Given the description of an element on the screen output the (x, y) to click on. 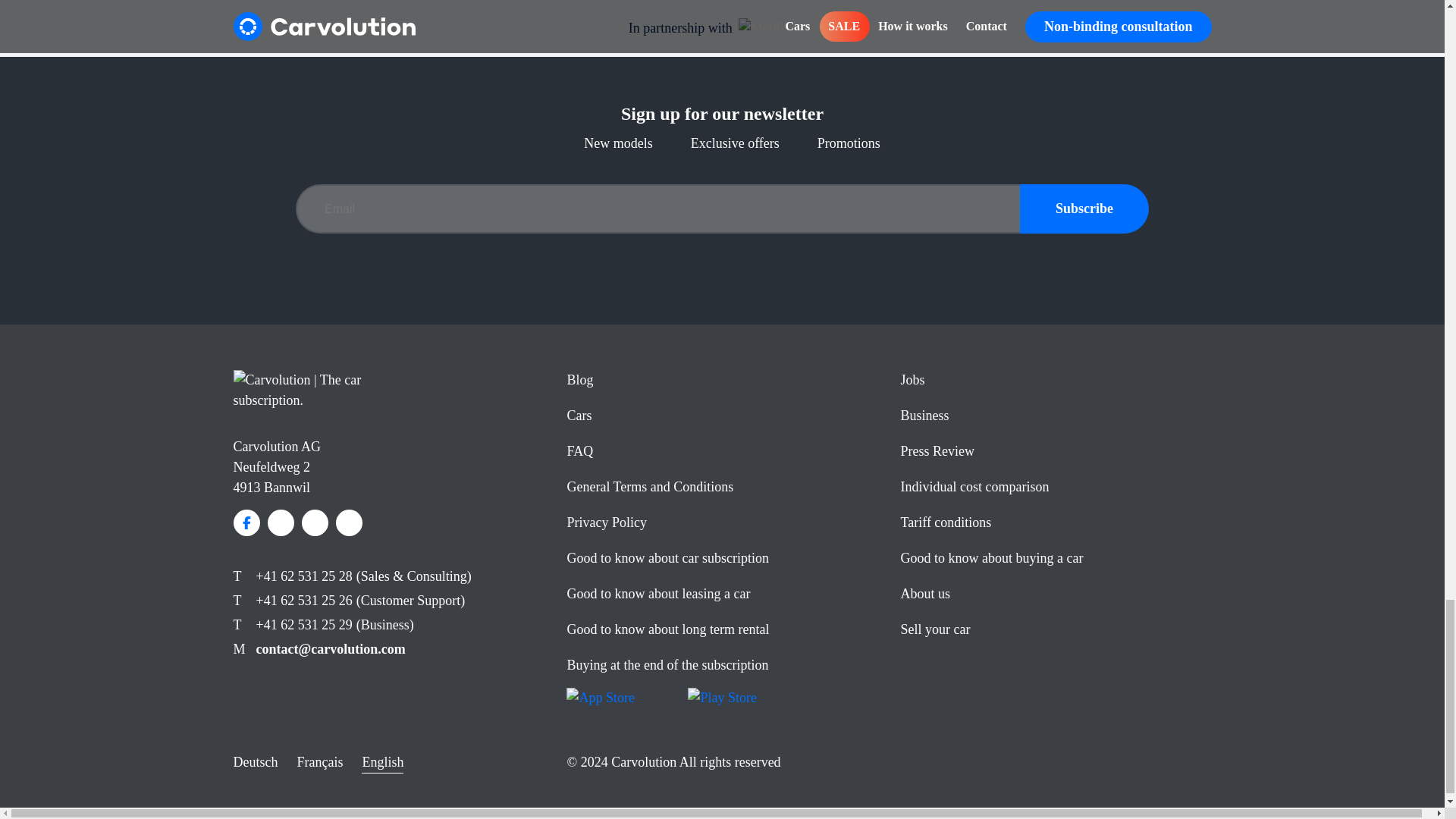
Jobs (911, 379)
Good to know about car subscription (667, 557)
Good to know about buying a car (991, 557)
Business (924, 415)
General Terms and Conditions (649, 486)
Privacy Policy (606, 522)
Cars (578, 415)
Good to know about leasing a car (657, 593)
Press Review (936, 450)
Blog (579, 379)
